Given the description of an element on the screen output the (x, y) to click on. 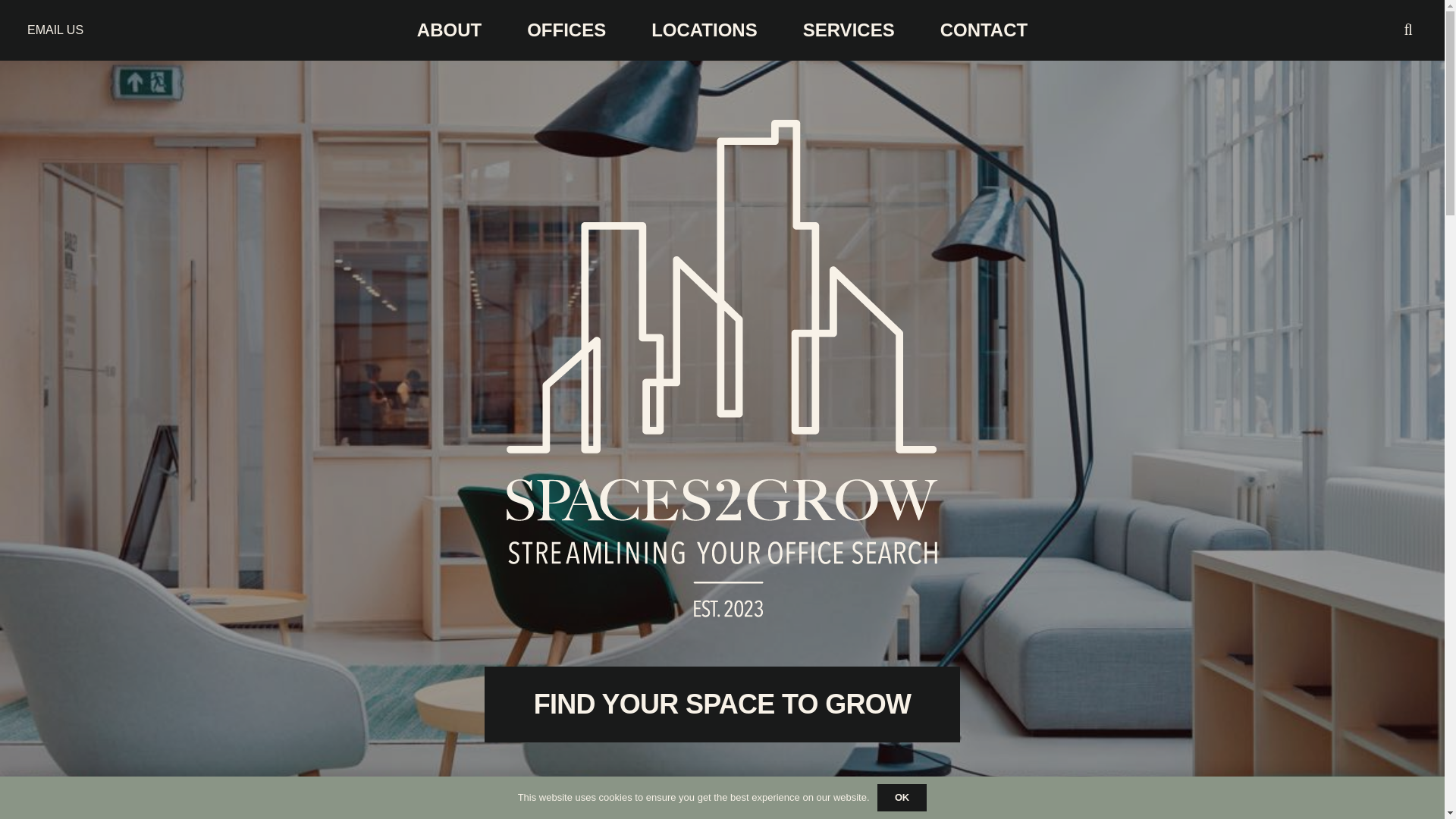
ABOUT (448, 30)
SERVICES (848, 30)
OFFICES (565, 30)
OK (902, 797)
CONTACT (984, 30)
EMAIL US (54, 29)
LOCATIONS (704, 30)
